Given the description of an element on the screen output the (x, y) to click on. 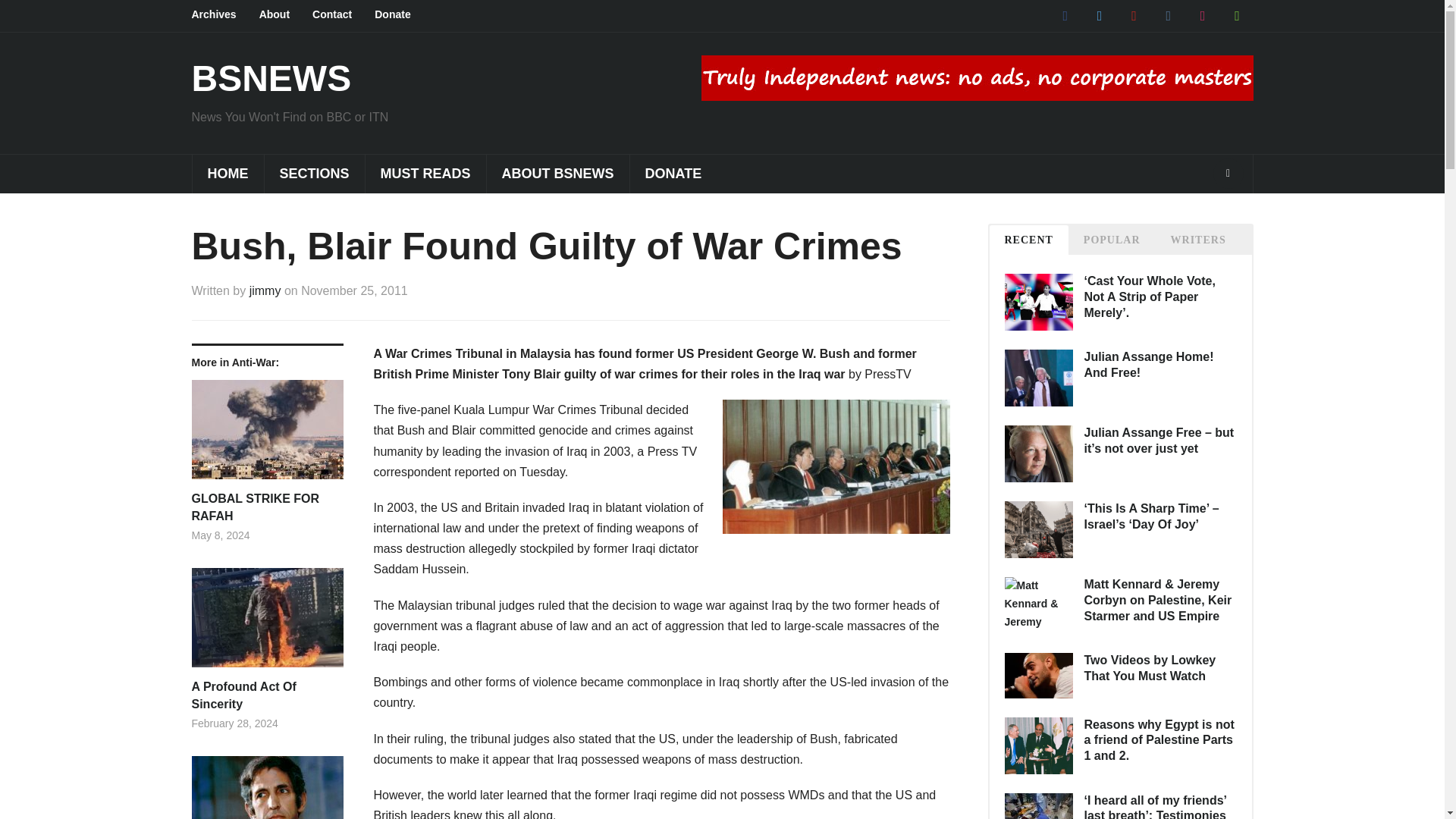
Facebook (1065, 14)
Contact (343, 15)
Default Label (1236, 14)
Permalink to A Profound Act Of Sincerity (266, 623)
twitter (1099, 14)
Donate (403, 15)
Permalink to GLOBAL STRIKE FOR RAFAH (266, 507)
Default Label (1168, 14)
Search (1227, 173)
wrench (1236, 14)
